Given the description of an element on the screen output the (x, y) to click on. 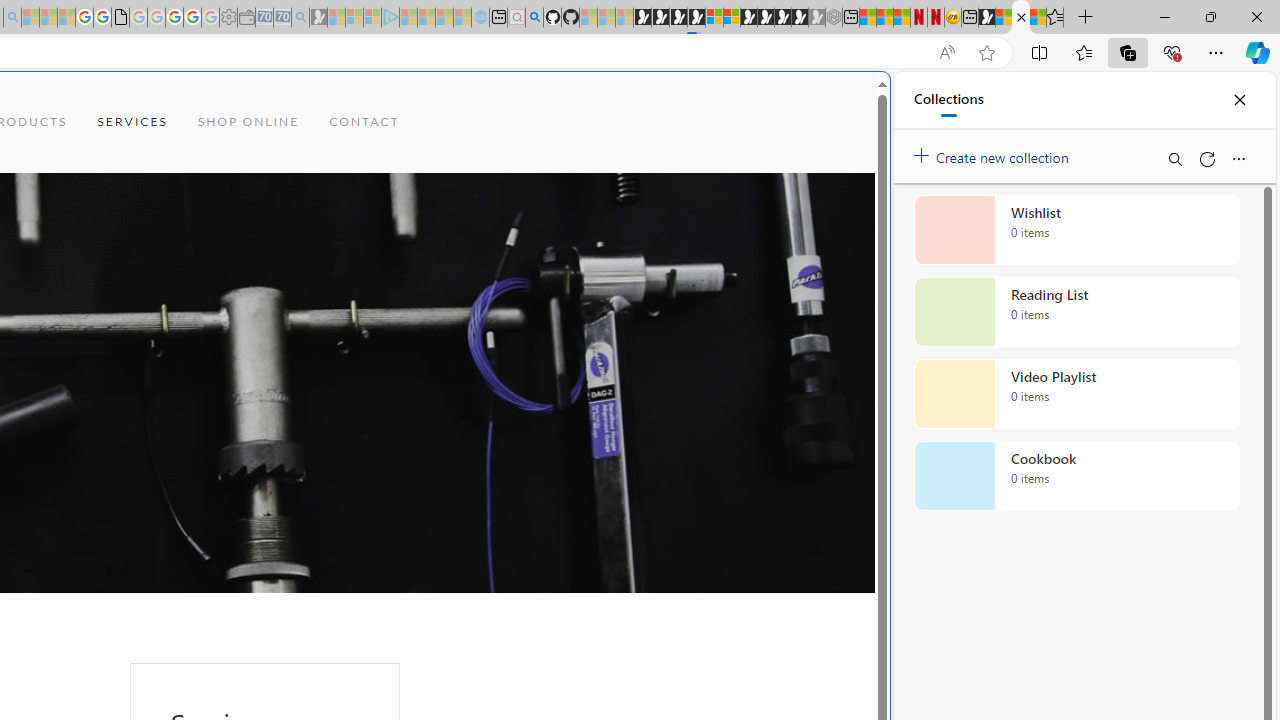
Refresh (1206, 158)
Add this page to favorites (Ctrl+D) (986, 53)
Overview (731, 17)
Video Playlist collection, 0 items (1076, 394)
Browser essentials (1171, 52)
Read aloud this page (Ctrl+Shift+U) (946, 53)
CONTACT (363, 122)
Bing Real Estate - Home sales and rental listings - Sleeping (299, 17)
